Given the description of an element on the screen output the (x, y) to click on. 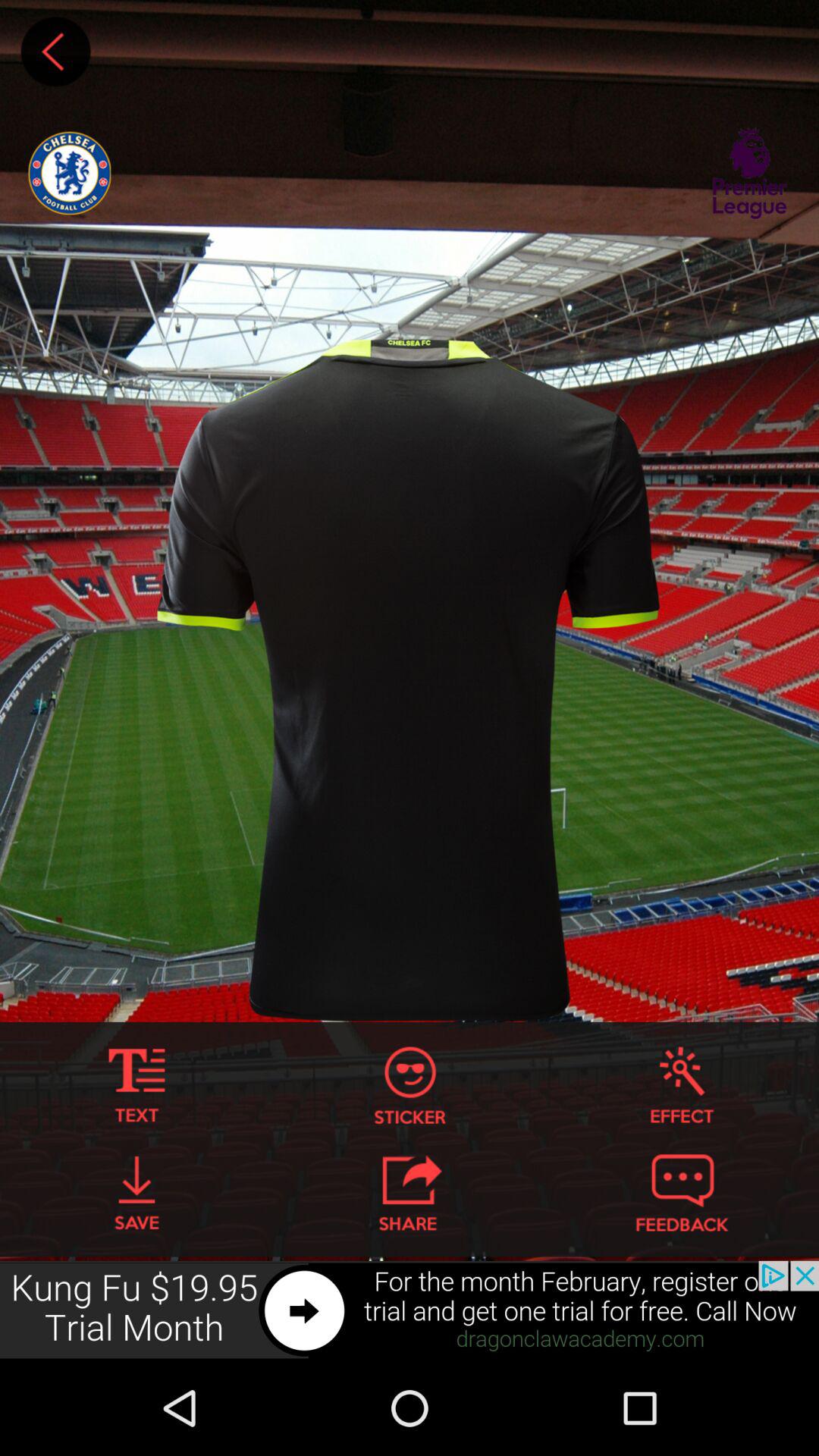
exit (409, 1193)
